Given the description of an element on the screen output the (x, y) to click on. 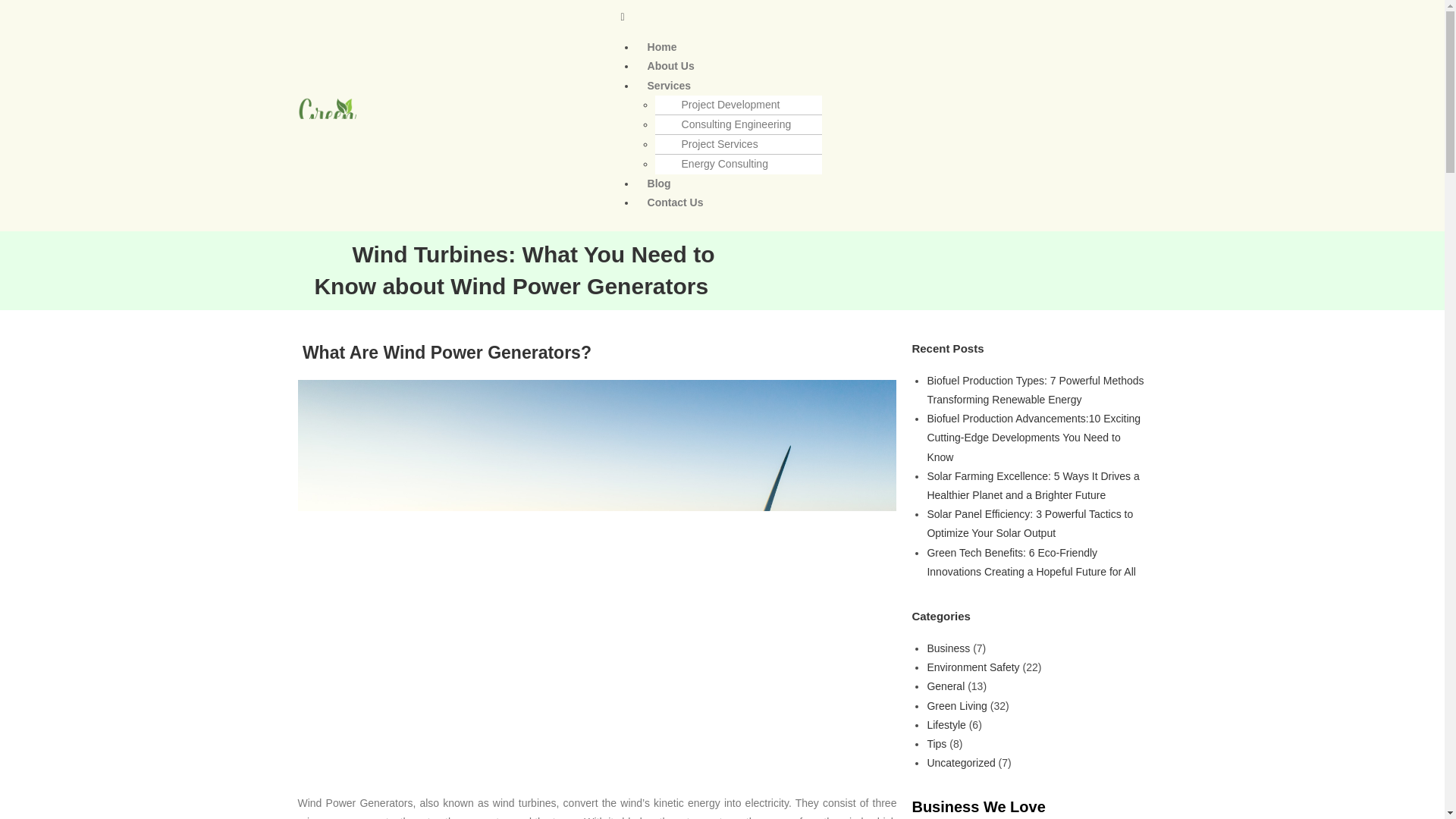
Energy Consulting (716, 163)
Project Services (712, 143)
Green Living (956, 705)
Business (947, 648)
Lifestyle (945, 725)
Consulting Engineering (729, 124)
Home (662, 46)
Blog (659, 182)
Project Development (723, 104)
Environment Safety (972, 666)
Tips (936, 743)
Contact Us (675, 202)
